Given the description of an element on the screen output the (x, y) to click on. 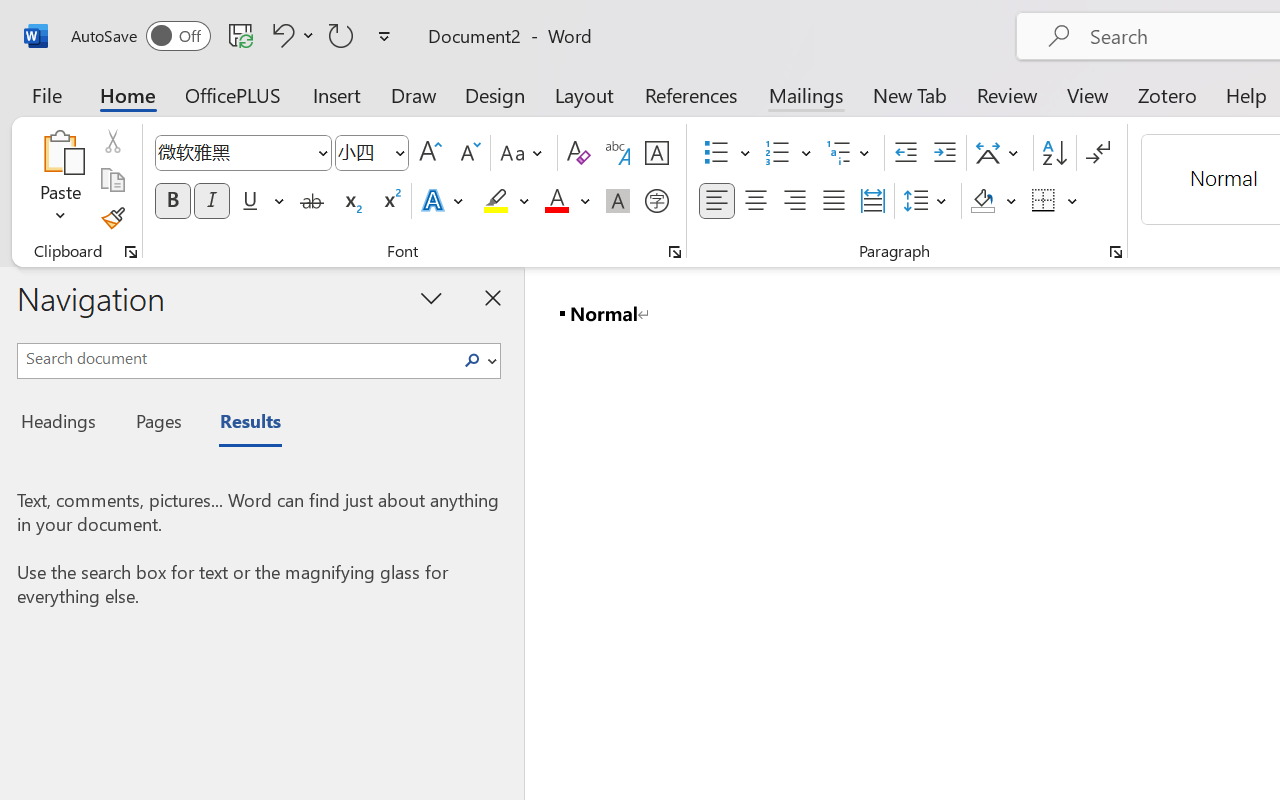
Zotero (1166, 94)
Subscript (350, 201)
Home (127, 94)
Design (495, 94)
Multilevel List (850, 153)
Text Highlight Color Yellow (495, 201)
Underline (261, 201)
Repeat Doc Close (341, 35)
Show/Hide Editing Marks (1098, 153)
Draw (413, 94)
AutoSave (140, 35)
Bullets (727, 153)
Superscript (390, 201)
OfficePLUS (233, 94)
Borders (1044, 201)
